Given the description of an element on the screen output the (x, y) to click on. 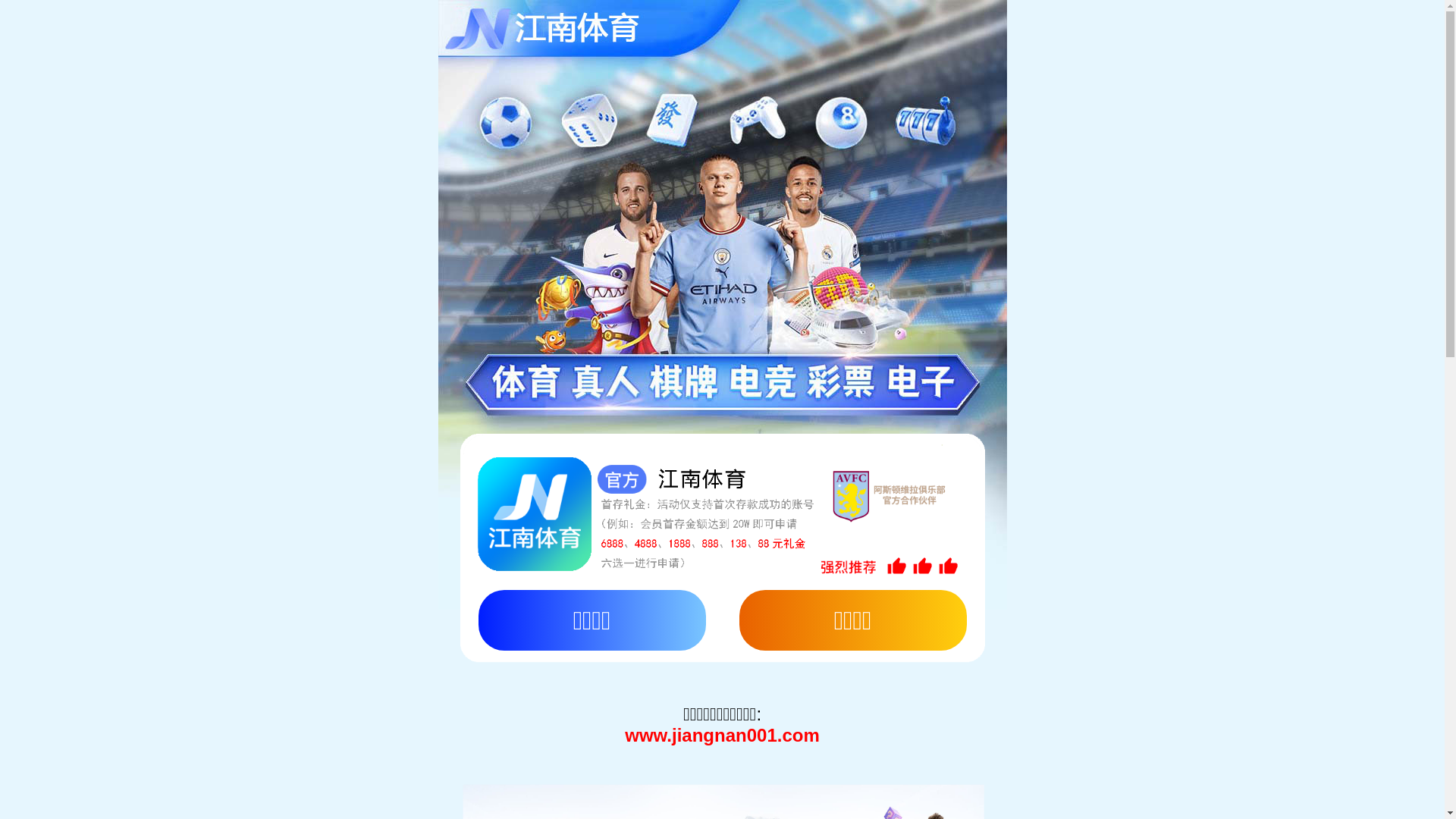
Next Element type: text (1426, 414)
3 Element type: text (753, 687)
2 Element type: text (727, 687)
Previous Element type: text (29, 414)
1 Element type: text (700, 687)
